Given the description of an element on the screen output the (x, y) to click on. 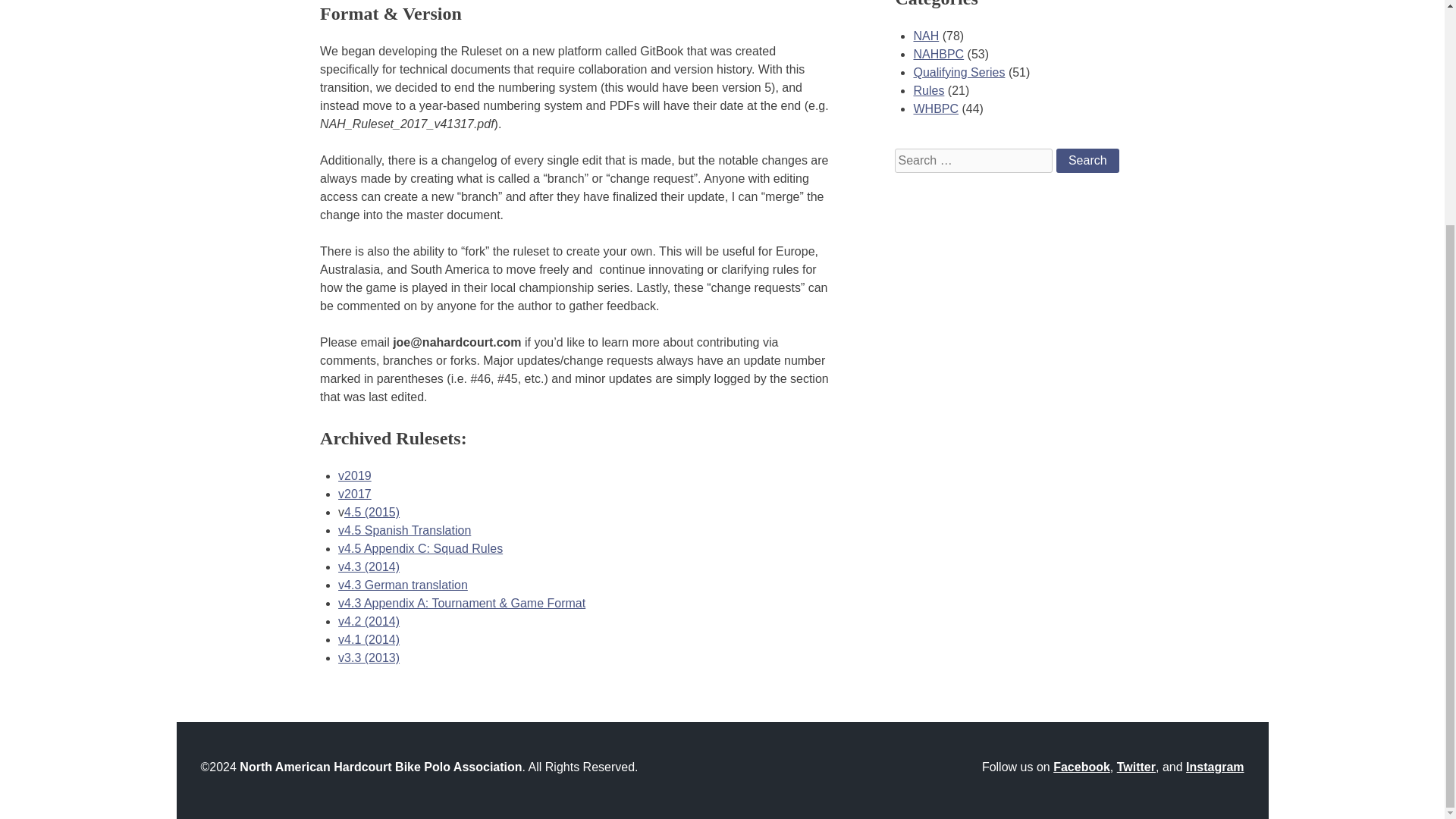
v4.5 Spanish Translation (403, 530)
Search (1088, 160)
WHBPC (935, 108)
v4.5 Appendix C: Squad Rules (419, 548)
Qualifying Series (958, 72)
v2019 (354, 475)
v4.3 German translation (402, 584)
Search (1088, 160)
NAHBPC (937, 53)
Search (1088, 160)
Twitter (1136, 766)
Rules (927, 90)
Instagram (1214, 766)
Facebook (1080, 766)
v2017 (354, 493)
